Given the description of an element on the screen output the (x, y) to click on. 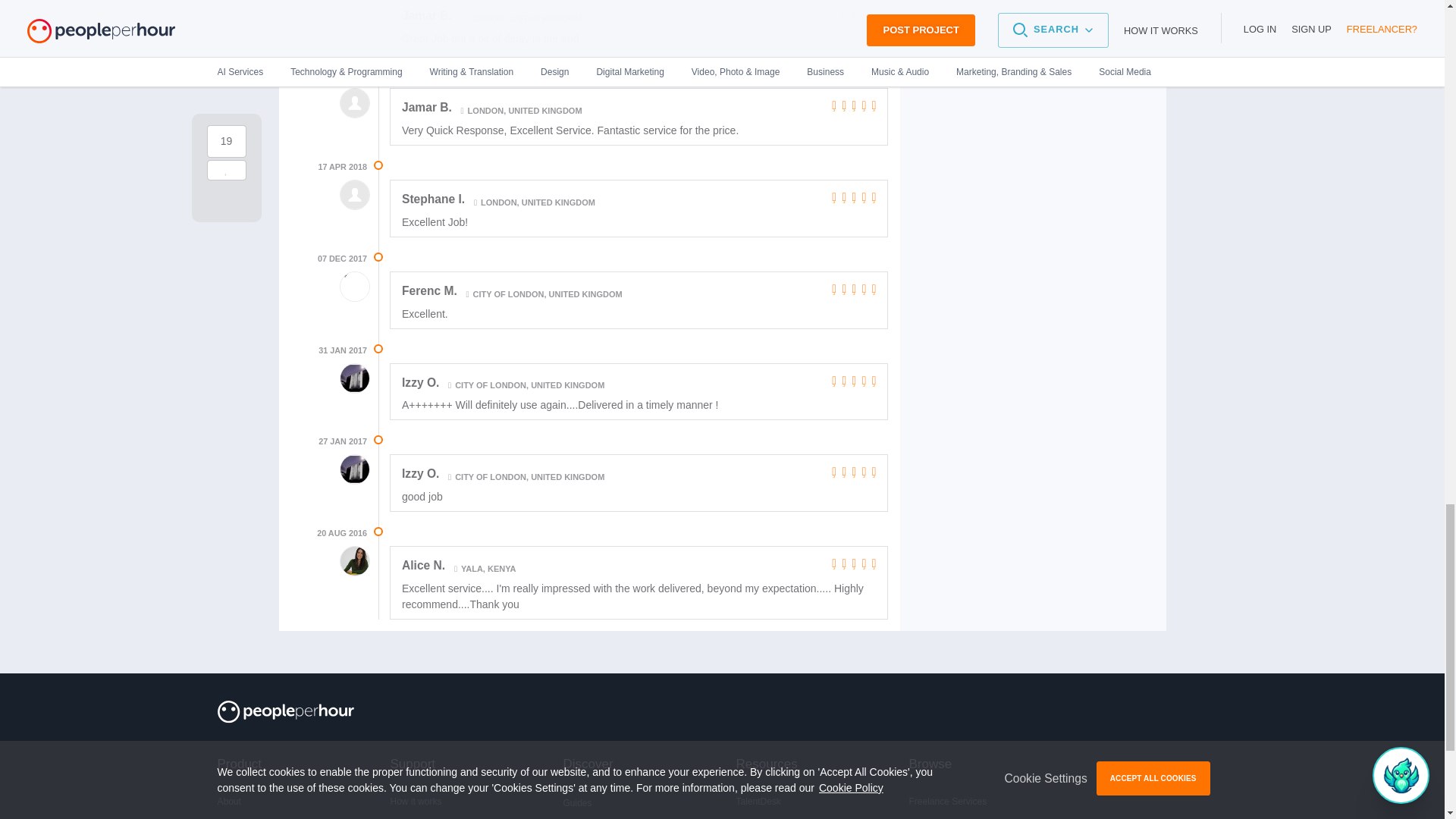
Thu, 07 Dec 2017  at 3:43am (341, 258)
Tue, 31 Jan 2017  at 6:45am (342, 350)
Tue, 17 Apr 2018  at 6:58pm (341, 166)
Mon, 30 Apr 2018  at 4:31pm (341, 74)
Fri, 27 Jan 2017  at 11:16pm (342, 440)
Sat, 20 Aug 2016  at 10:17pm (341, 533)
